Given the description of an element on the screen output the (x, y) to click on. 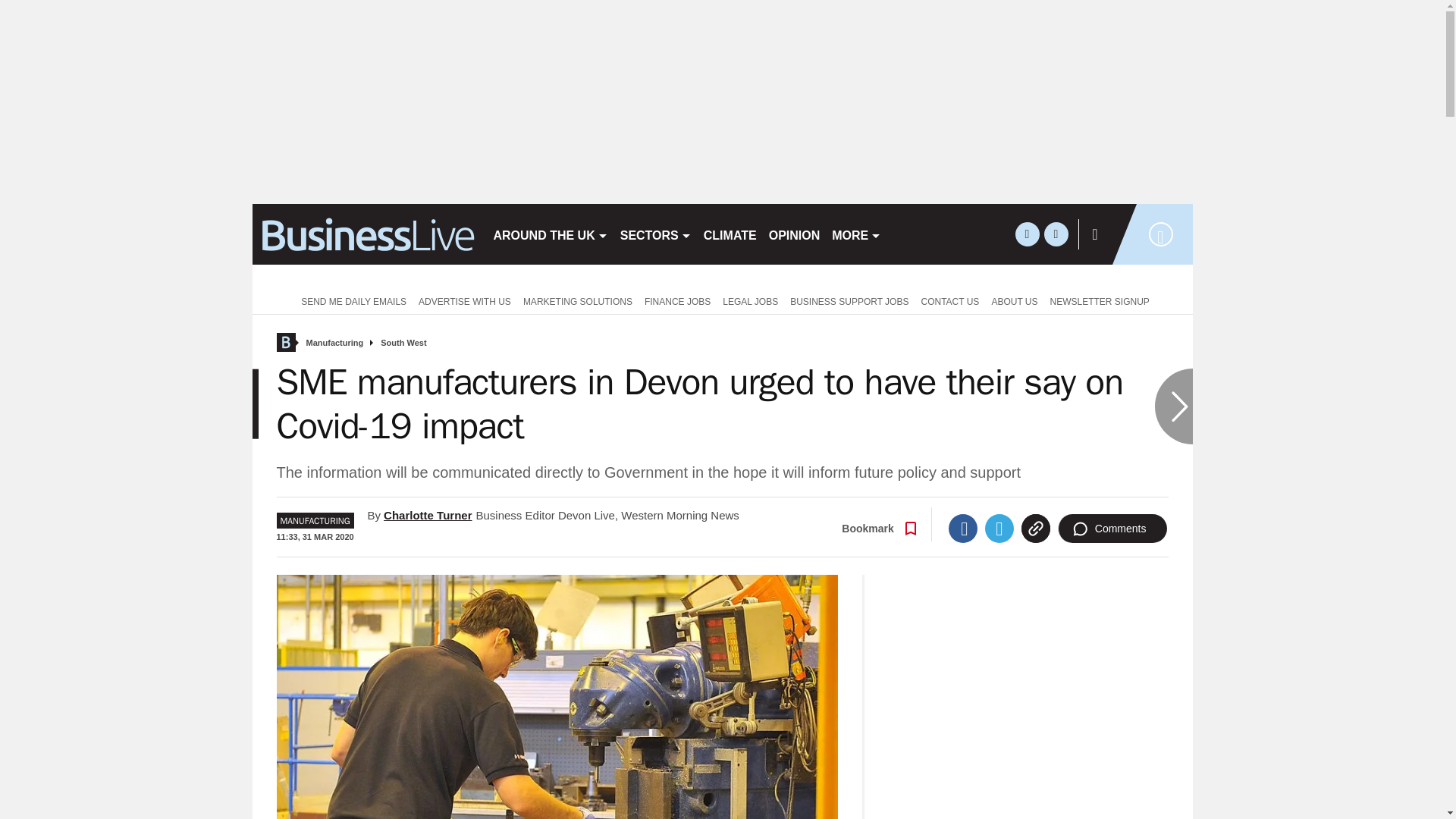
FINANCE JOBS (677, 300)
LEGAL JOBS (750, 300)
birminghampost (365, 233)
Twitter (999, 528)
MARKETING SOLUTIONS (577, 300)
Comments (1112, 528)
linkedin (1055, 233)
MORE (855, 233)
ADVERTISE WITH US (464, 300)
CLIMATE (729, 233)
